Given the description of an element on the screen output the (x, y) to click on. 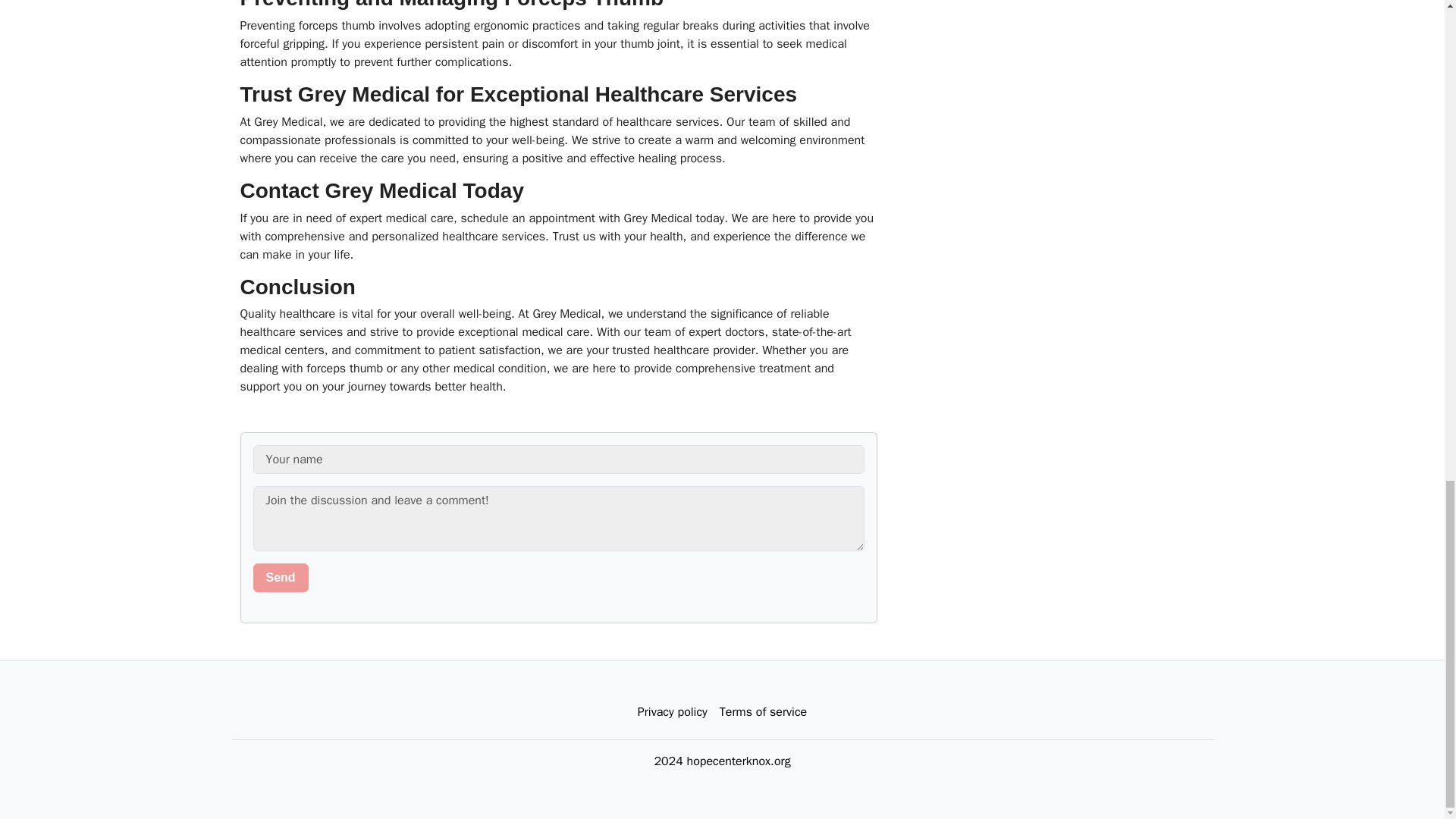
Send (280, 577)
Privacy policy (672, 711)
Terms of service (762, 711)
Send (280, 577)
